Given the description of an element on the screen output the (x, y) to click on. 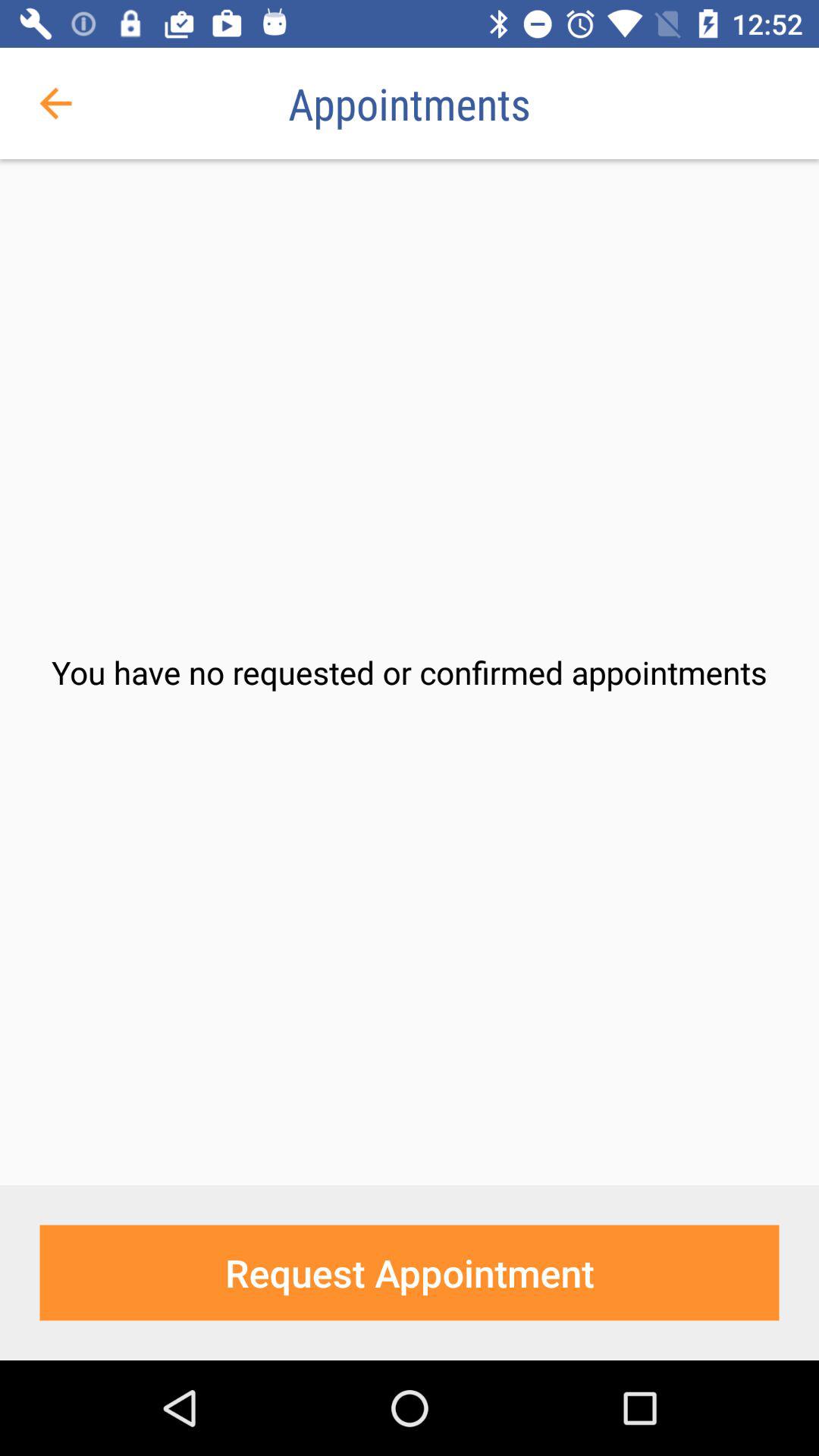
press the item above you have no (55, 103)
